Given the description of an element on the screen output the (x, y) to click on. 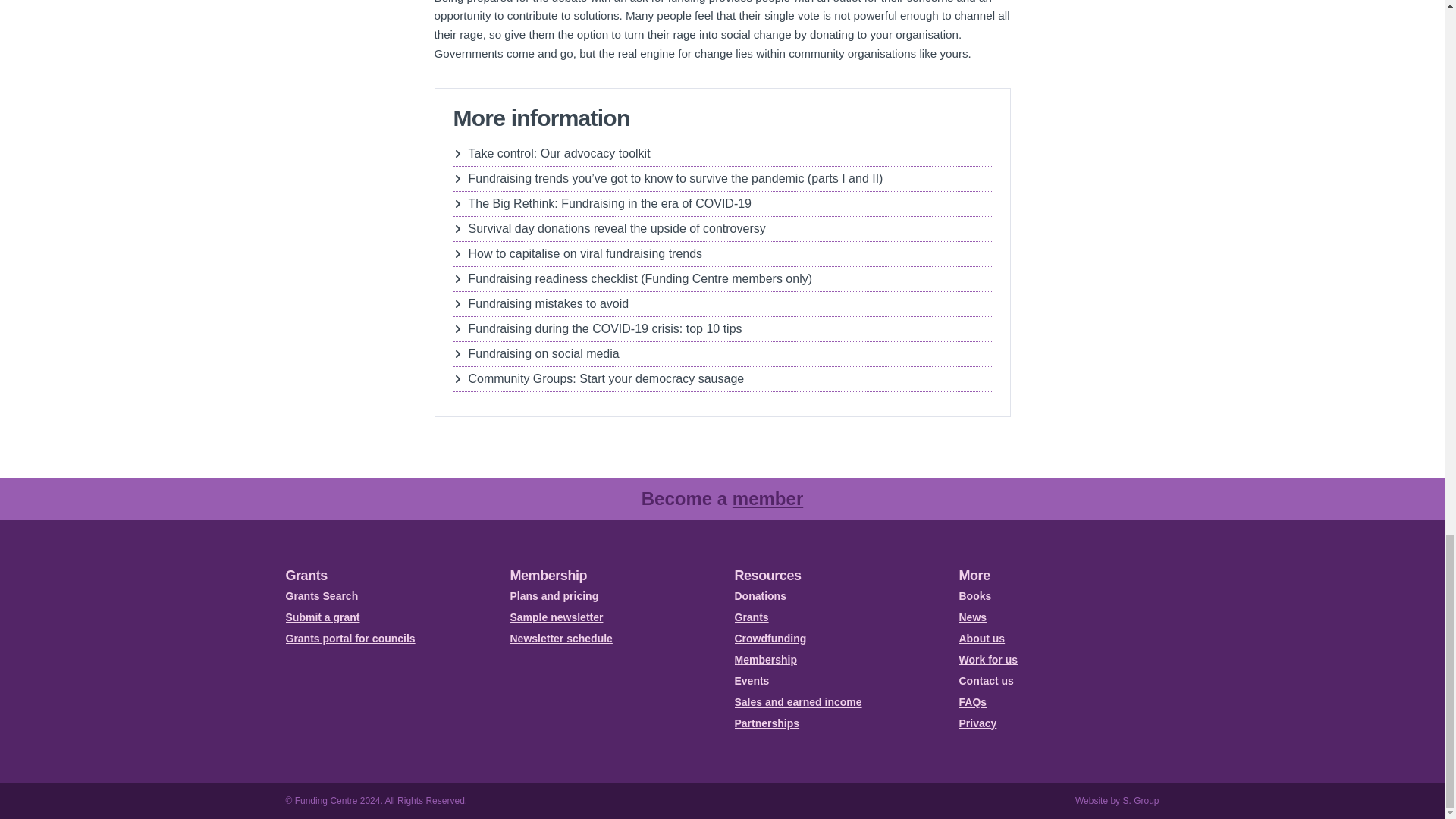
Community Groups: Start your democracy sausage (721, 379)
member (767, 498)
Grants Search (384, 595)
Plans and pricing (609, 595)
How to capitalise on viral fundraising trends (721, 253)
Fundraising during the COVID-19 crisis: top 10 tips (721, 329)
Grants portal for councils (384, 638)
The Big Rethink: Fundraising in the era of COVID-19 (721, 203)
Survival day donations reveal the upside of controversy (721, 229)
Submit a grant (384, 617)
Fundraising on social media (721, 353)
Fundraising mistakes to avoid (721, 303)
Take control: Our advocacy toolkit (721, 153)
